Given the description of an element on the screen output the (x, y) to click on. 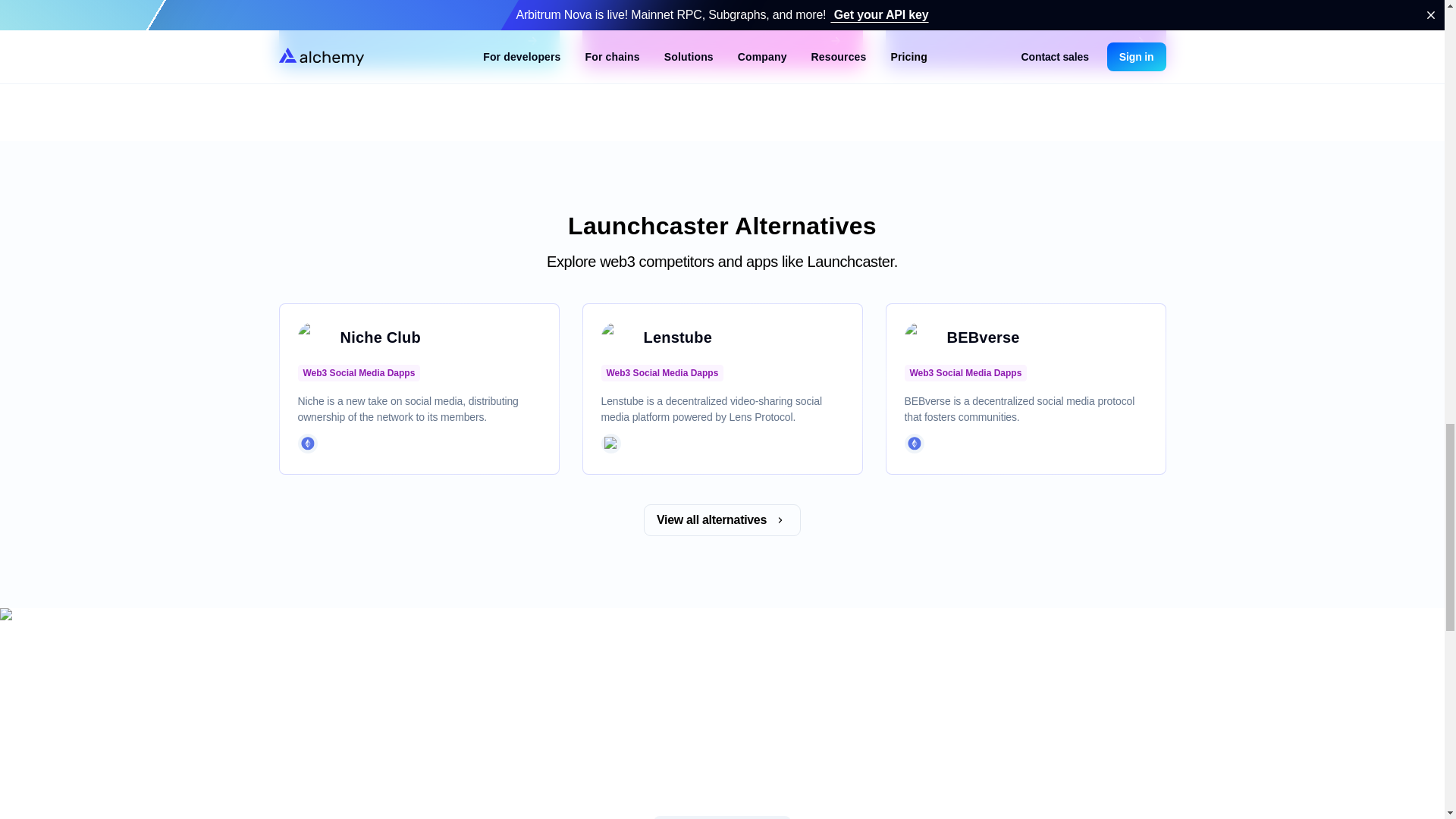
Polygon (610, 443)
Ethereum (913, 443)
Ethereum (306, 443)
